Given the description of an element on the screen output the (x, y) to click on. 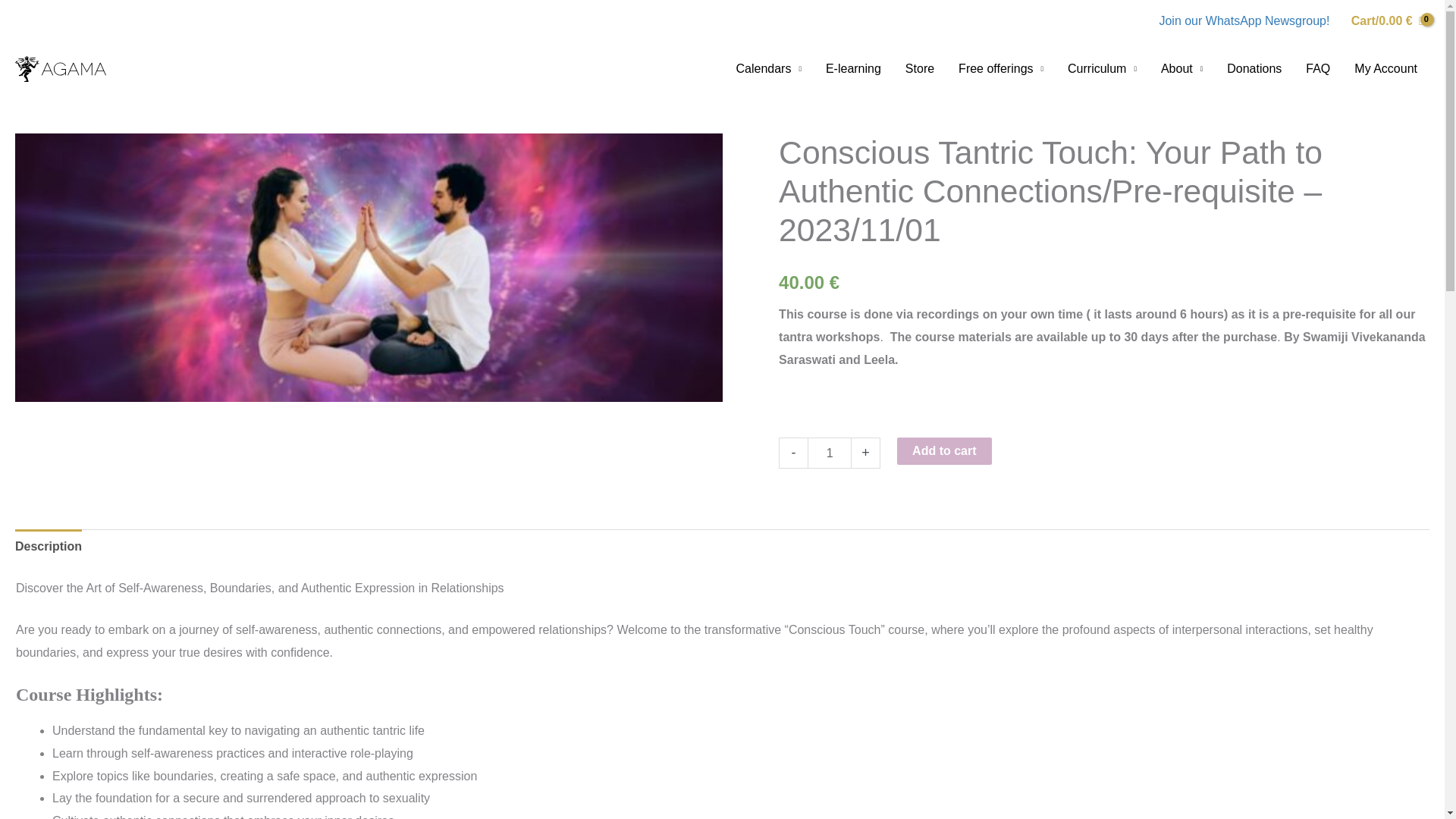
1 (829, 452)
FAQ (1318, 68)
Calendars (767, 68)
My Account (1385, 68)
Donations (1254, 68)
Curriculum (1101, 68)
About (1181, 68)
Join our WhatsApp Newsgroup! (1243, 20)
Store (919, 68)
E-learning (853, 68)
Free offerings (1000, 68)
Add to cart (943, 451)
- (793, 452)
